Given the description of an element on the screen output the (x, y) to click on. 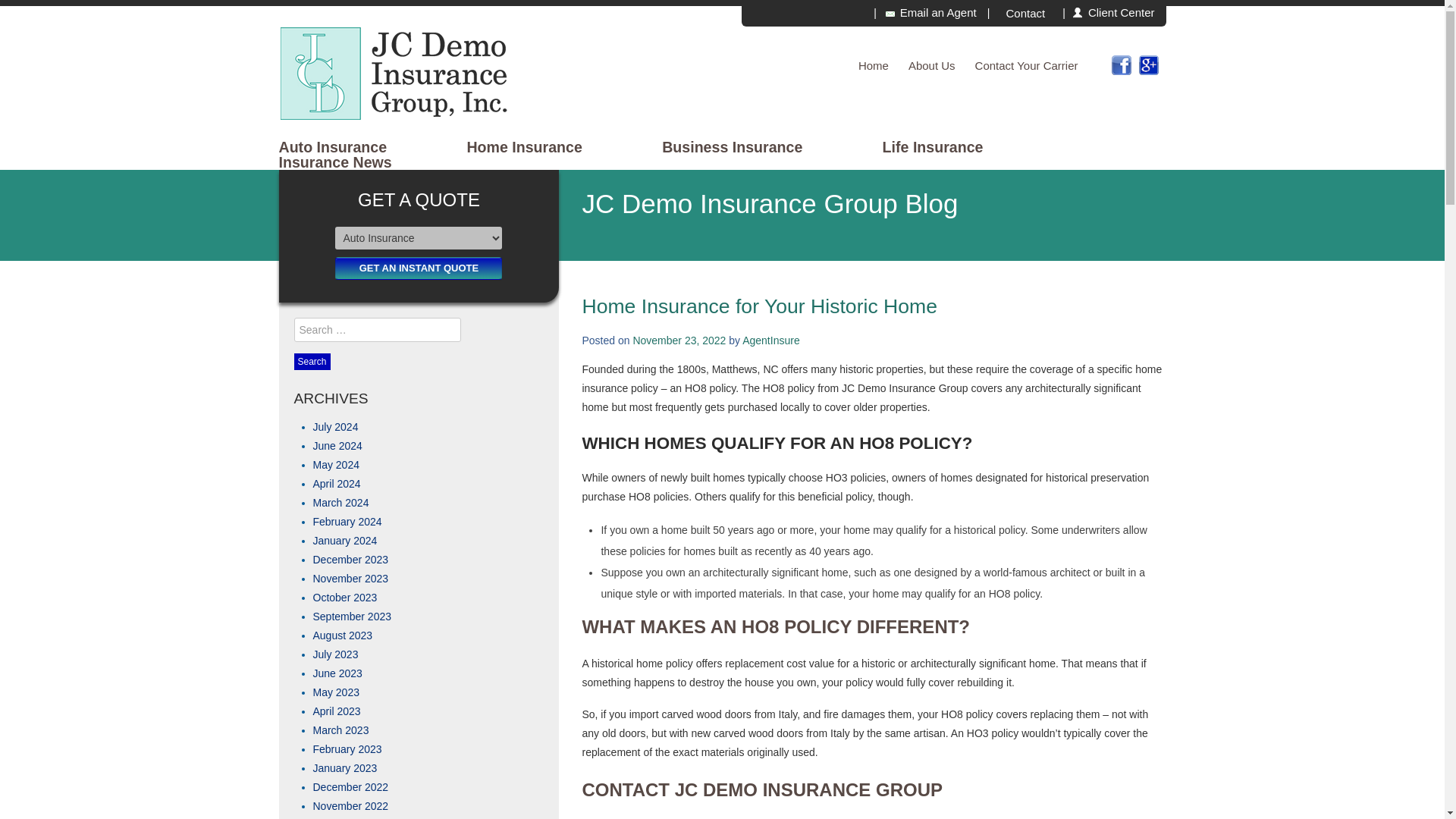
Business Insurance (732, 146)
Client Center (1115, 12)
Auto Insurance (333, 146)
Email an Agent (930, 12)
About Us (931, 65)
Home Insurance (522, 146)
Search (312, 361)
Client Center (1115, 12)
Email an Agent (930, 12)
Contact Your Carrier (1026, 65)
